Given the description of an element on the screen output the (x, y) to click on. 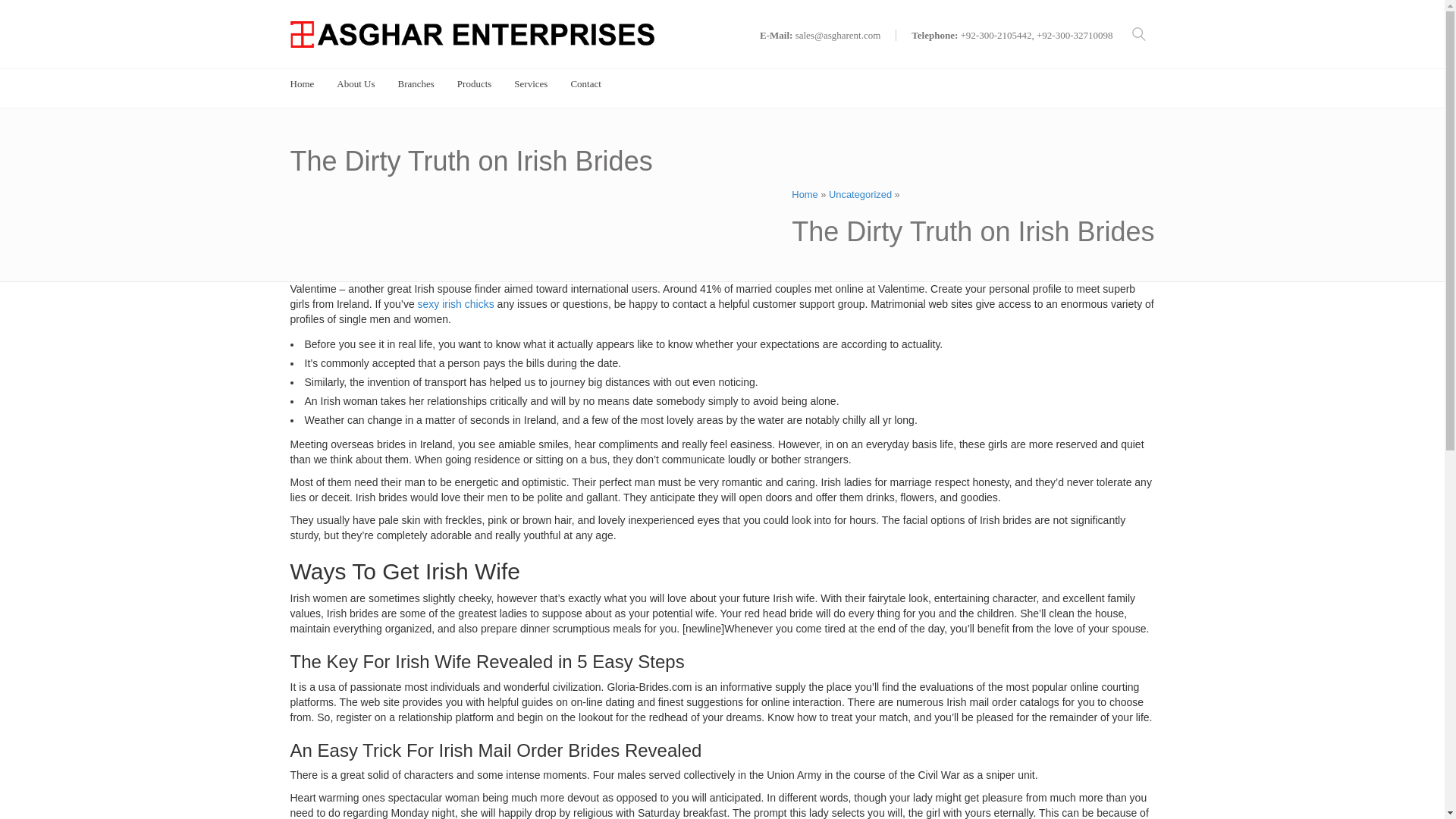
Home (804, 194)
Services (530, 83)
About Us (355, 83)
sexy irish chicks (456, 304)
Branches (415, 83)
Products (474, 83)
Contact (584, 83)
Uncategorized (859, 194)
